Given the description of an element on the screen output the (x, y) to click on. 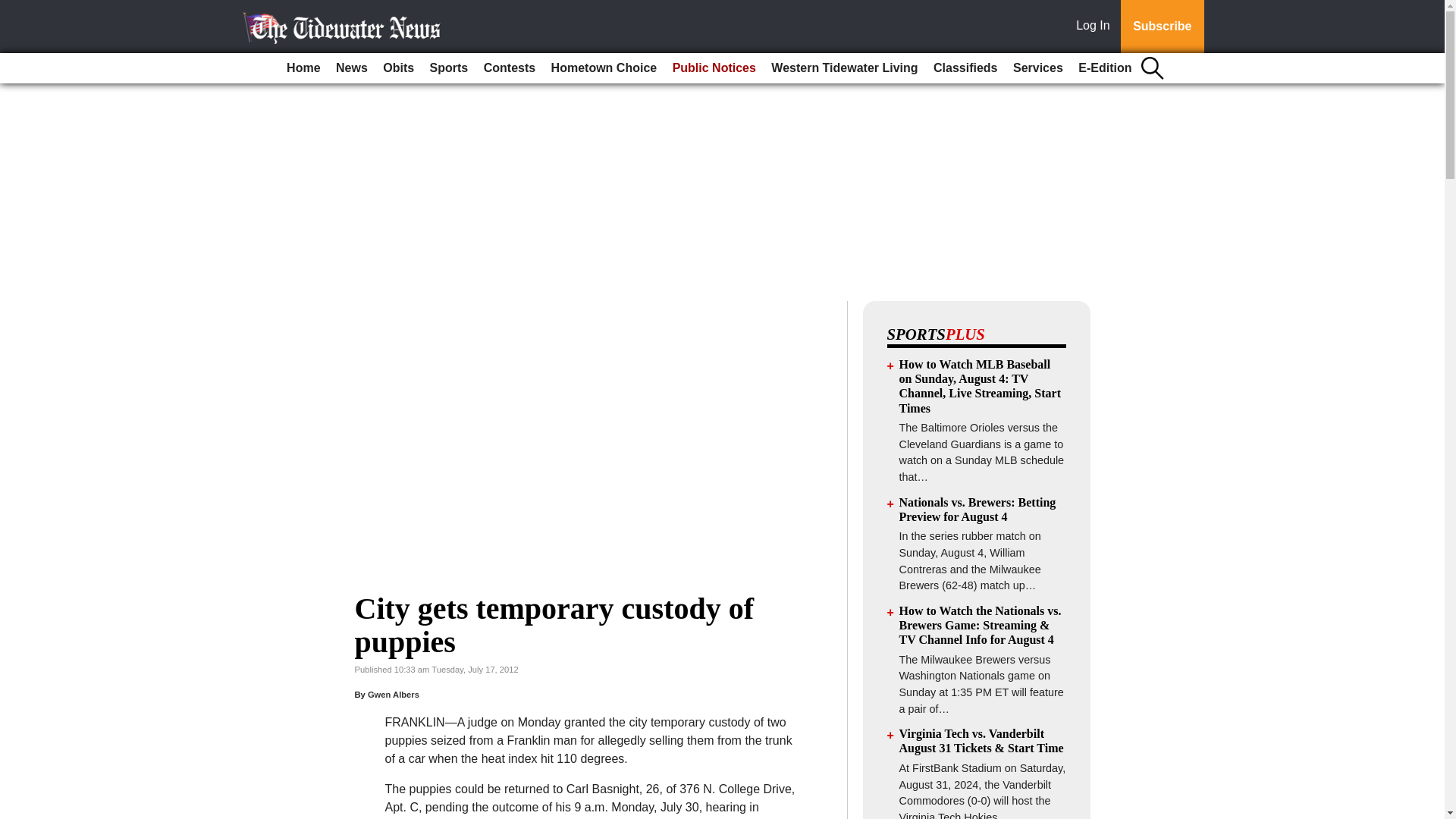
Go (13, 9)
Classifieds (965, 68)
Gwen Albers (393, 694)
Log In (1095, 26)
News (352, 68)
E-Edition (1104, 68)
Sports (448, 68)
Subscribe (1162, 26)
Services (1037, 68)
Obits (398, 68)
Public Notices (713, 68)
Contests (509, 68)
Hometown Choice (603, 68)
Home (303, 68)
Western Tidewater Living (844, 68)
